Given the description of an element on the screen output the (x, y) to click on. 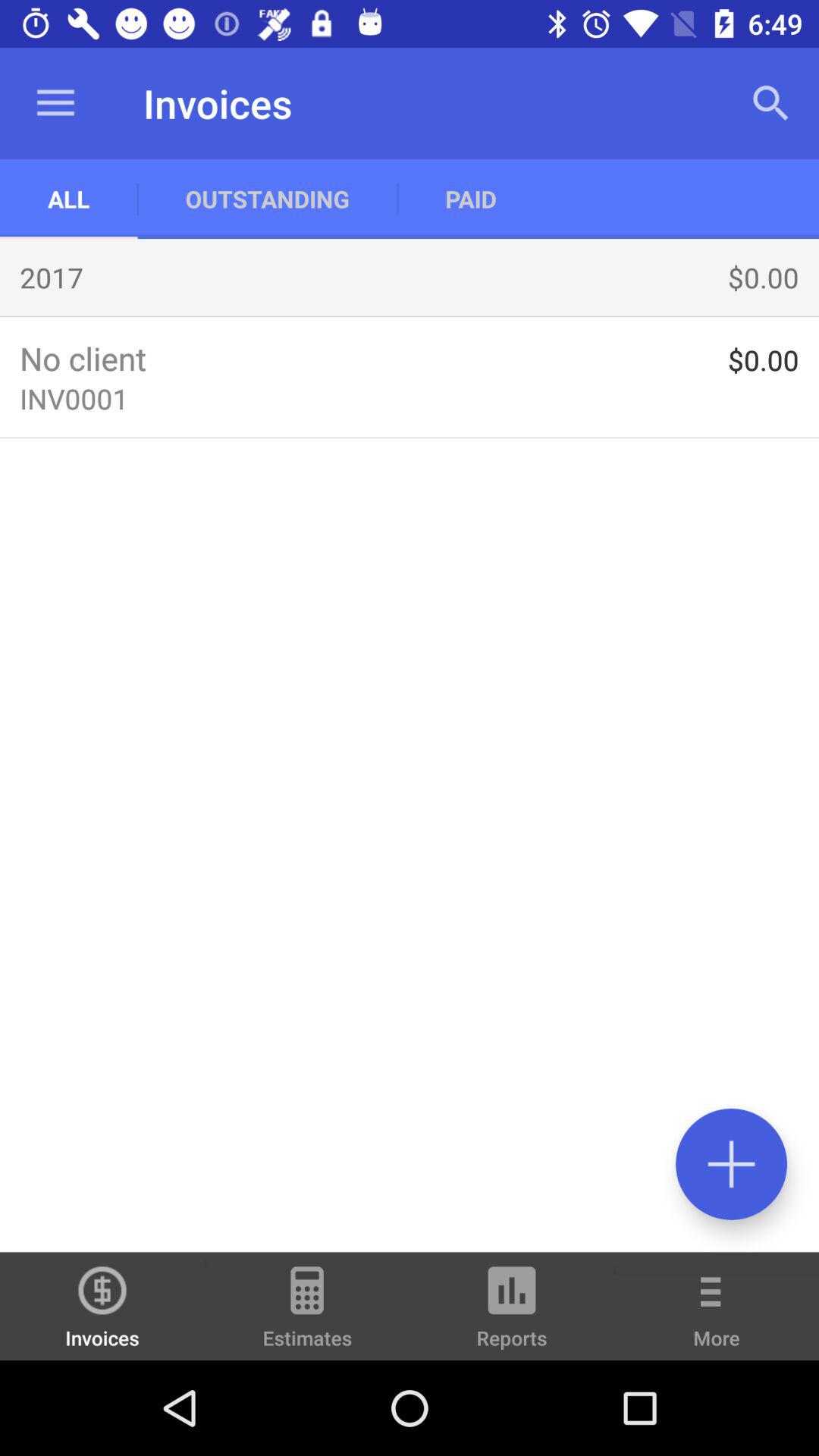
swipe until more (716, 1317)
